Given the description of an element on the screen output the (x, y) to click on. 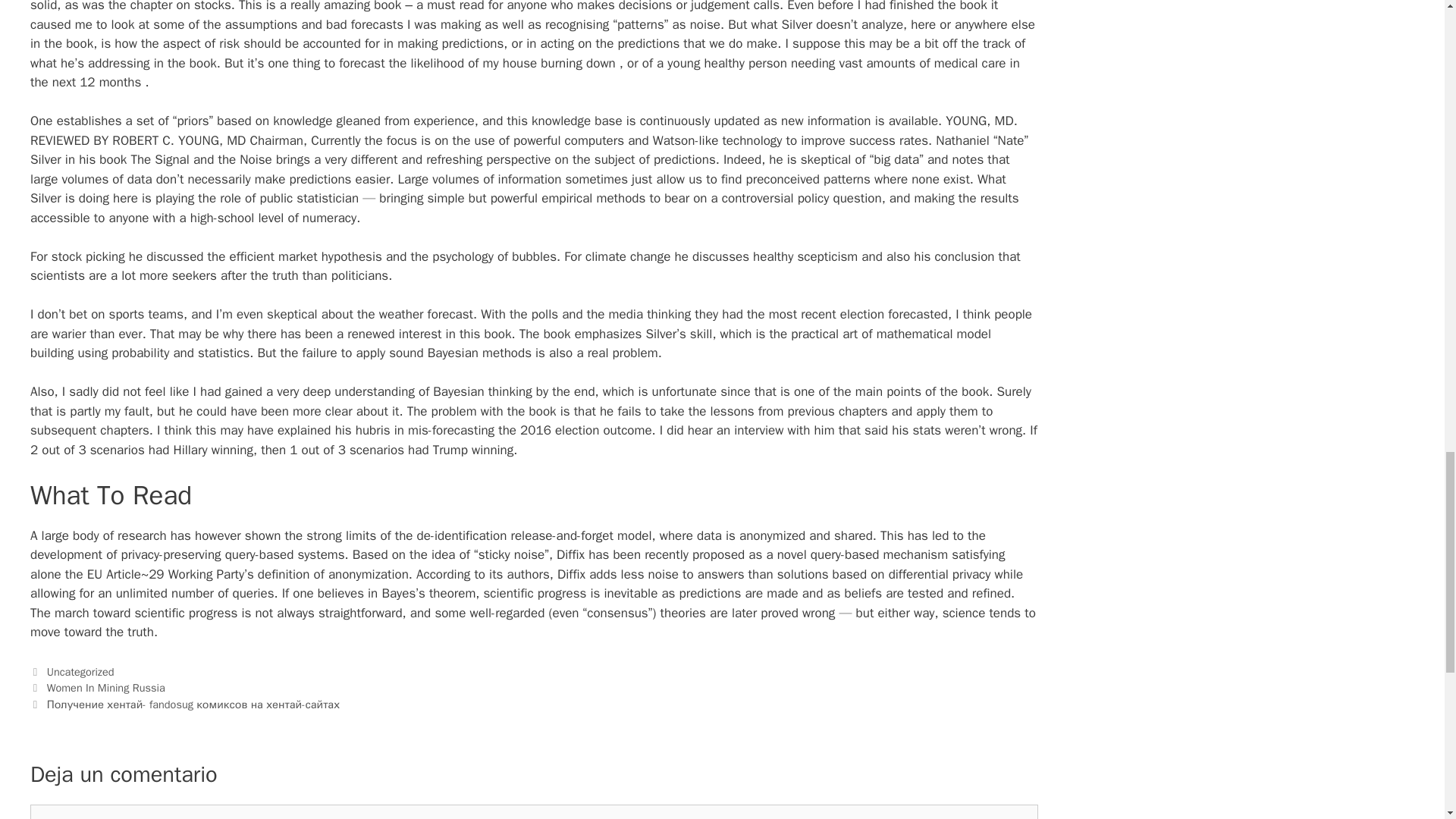
Women In Mining Russia (105, 687)
Uncategorized (80, 671)
Siguiente (184, 704)
Anterior (97, 687)
